Given the description of an element on the screen output the (x, y) to click on. 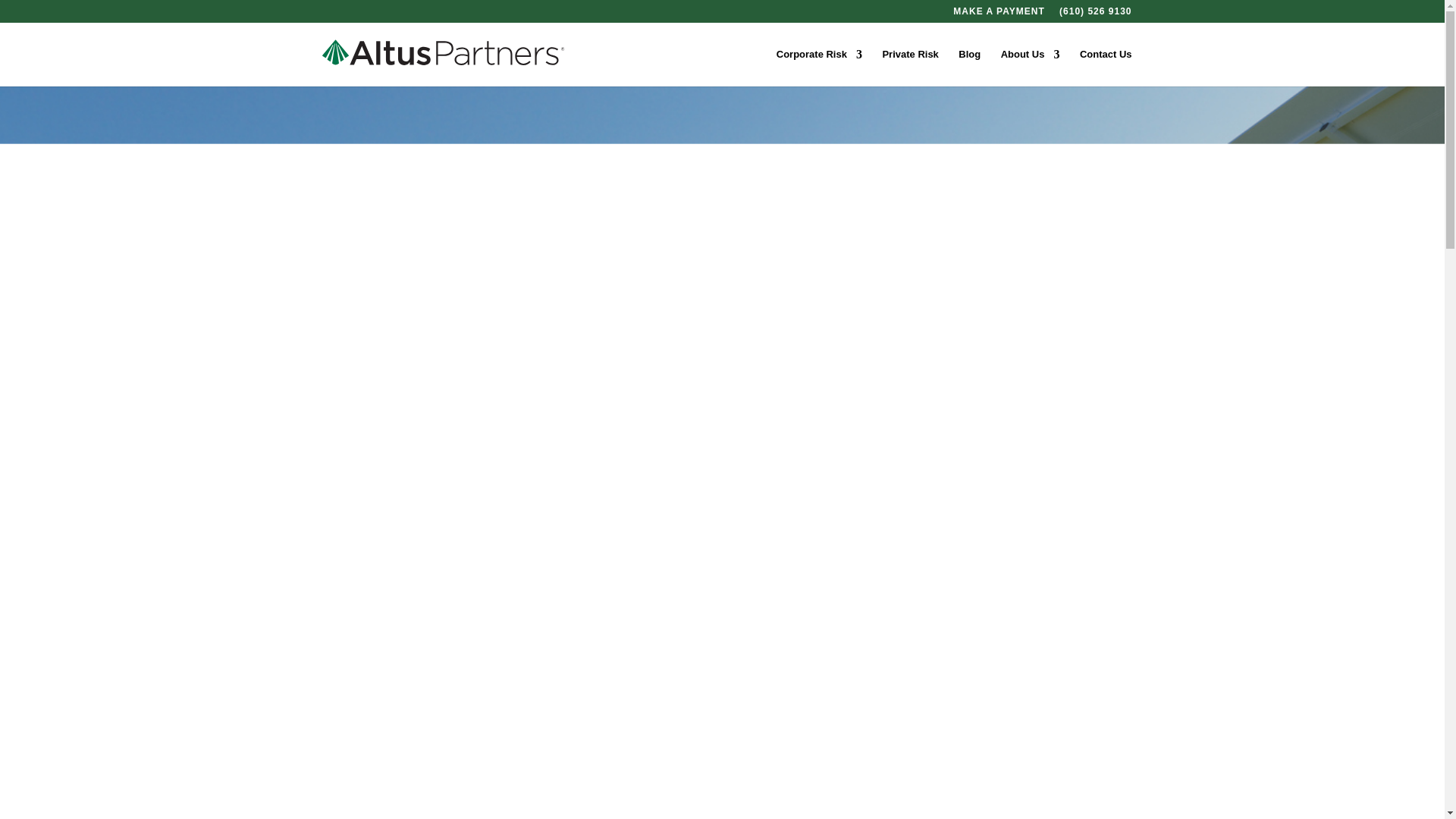
About Us (1030, 67)
MAKE A PAYMENT (998, 14)
Blog (968, 67)
Contact Us (1106, 67)
Corporate Risk (818, 67)
Private Risk (909, 67)
